Given the description of an element on the screen output the (x, y) to click on. 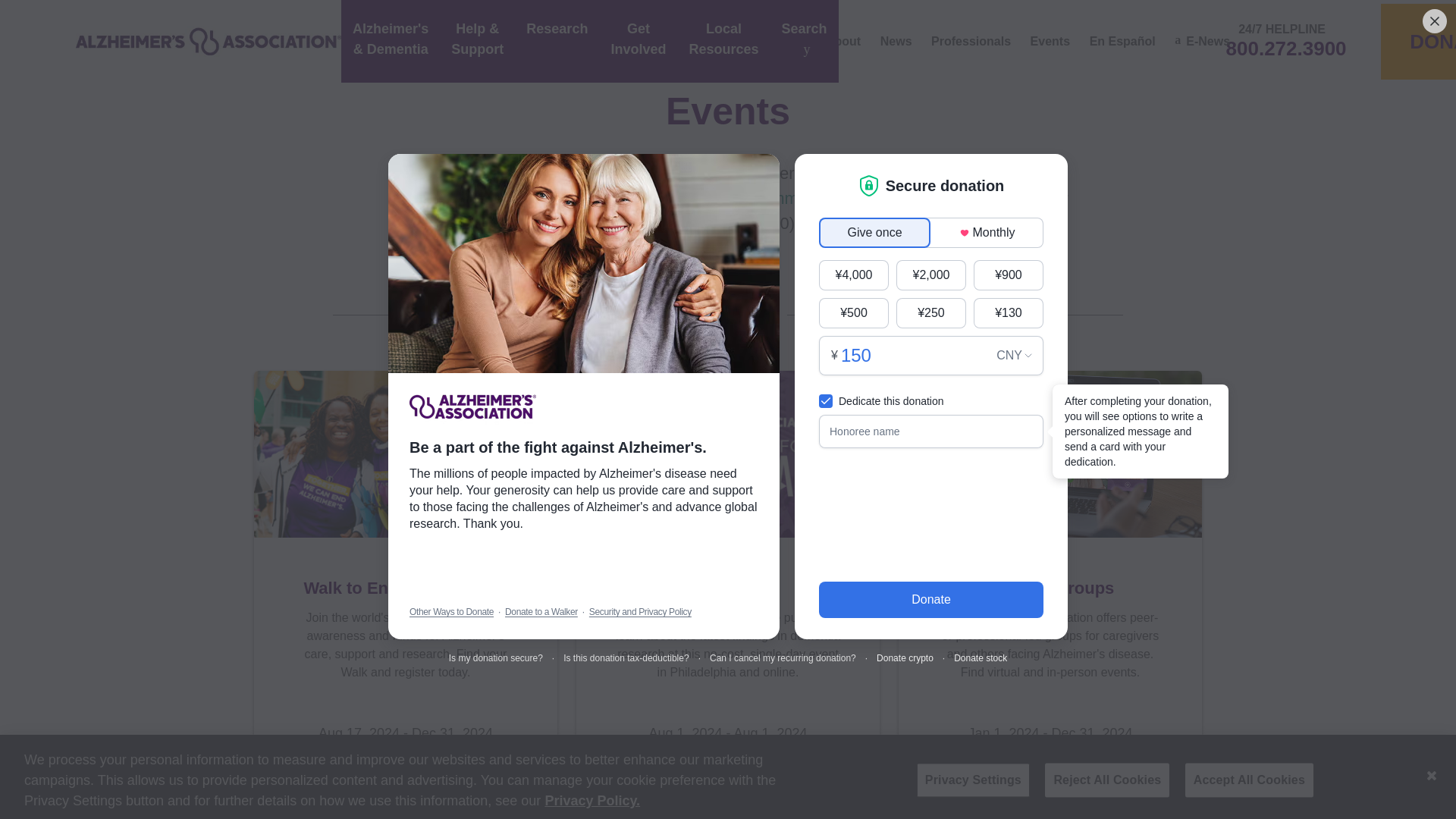
Professionals (971, 40)
E-News (1202, 40)
News (896, 40)
Events (1049, 40)
Alzheimer's Association - Logo (207, 40)
800.272.3900 (1281, 47)
About (843, 40)
